Given the description of an element on the screen output the (x, y) to click on. 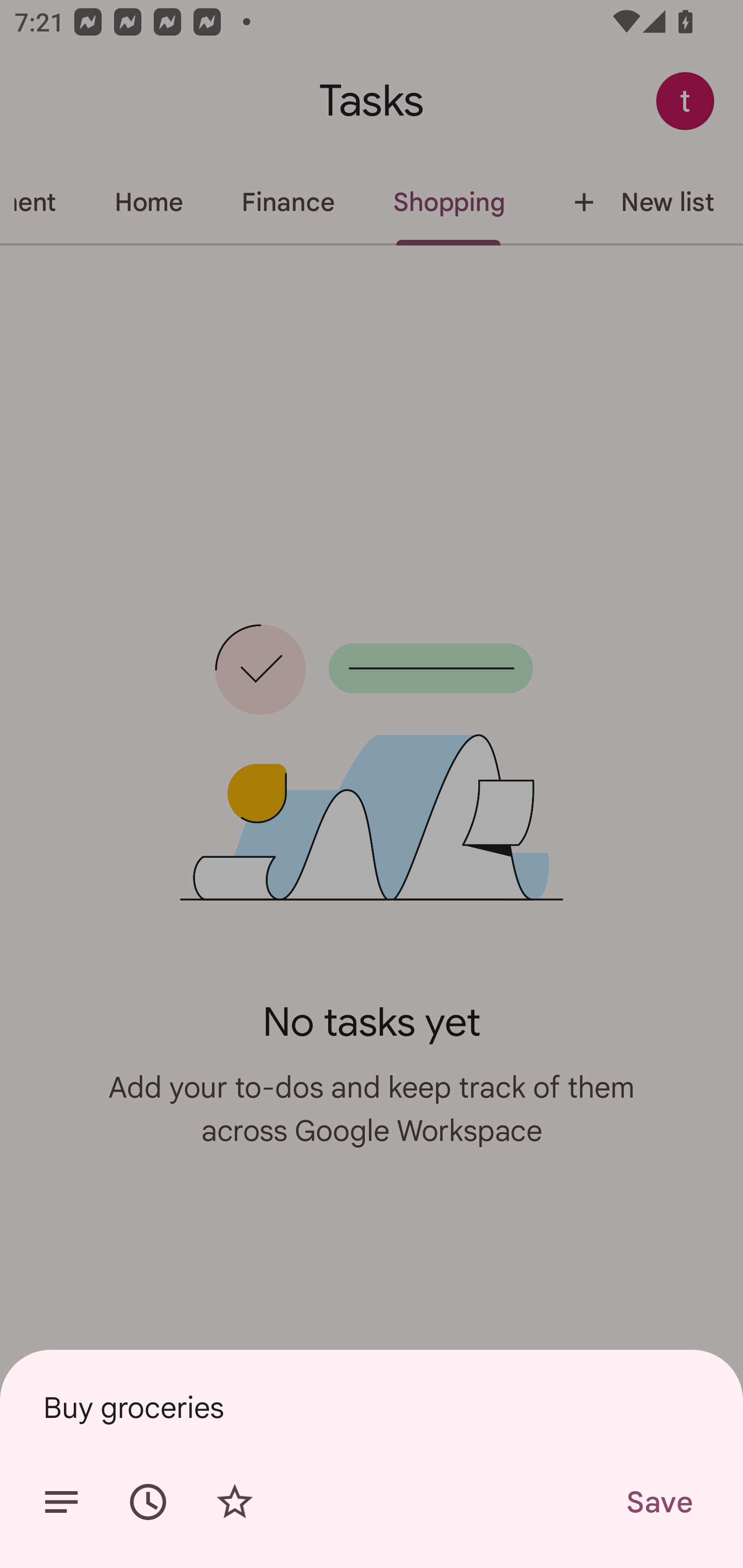
Buy groceries (371, 1407)
Save (659, 1501)
Add details (60, 1501)
Set date/time (147, 1501)
Add star (234, 1501)
